Given the description of an element on the screen output the (x, y) to click on. 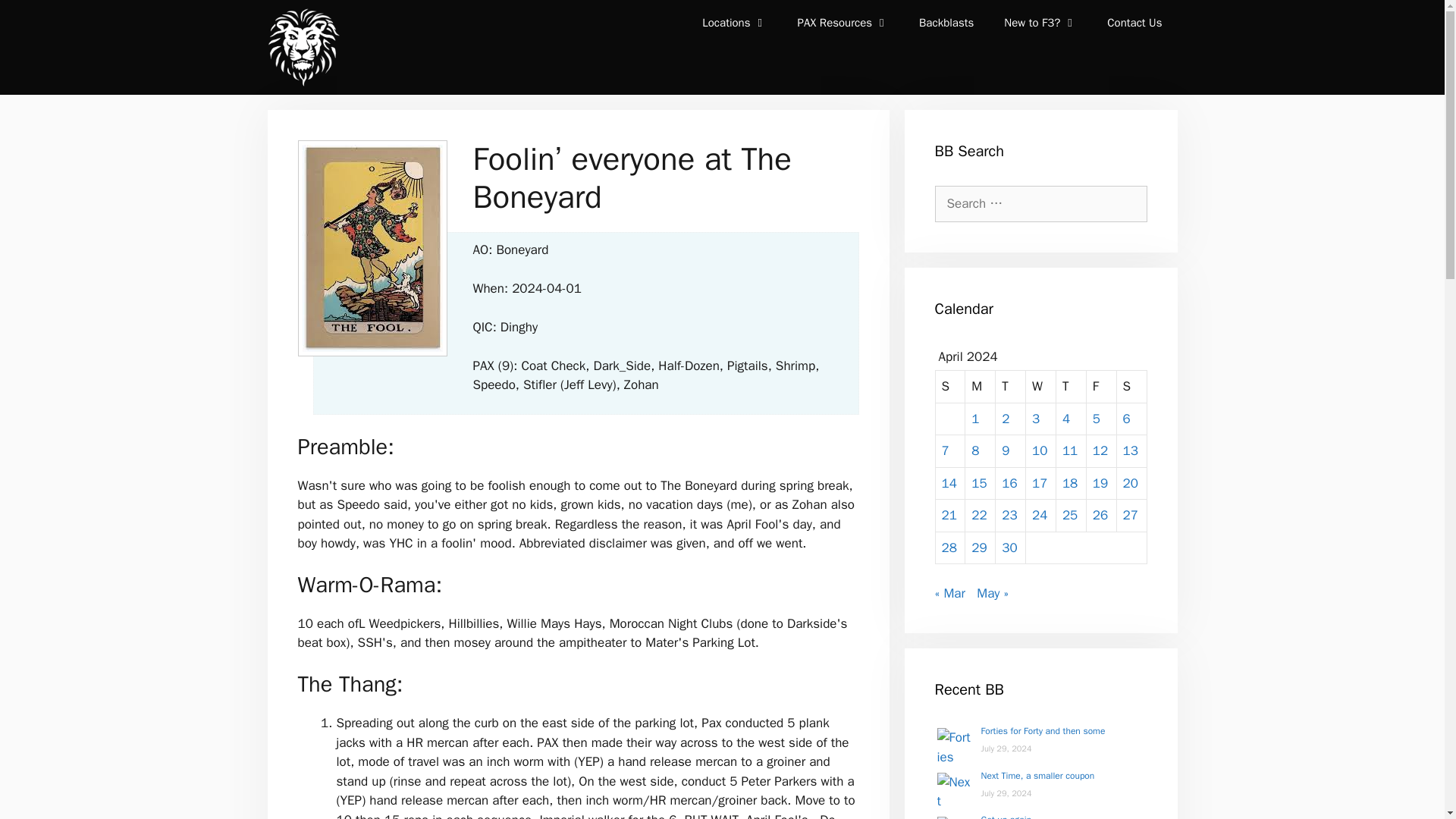
Saturday (1131, 387)
New to F3? (1040, 22)
Backblasts (946, 22)
Friday (1101, 387)
Wednesday (1041, 387)
Contact Us (1134, 22)
F3Alpha (302, 47)
PAX Resources (843, 22)
Monday (980, 387)
Locations (734, 22)
Sunday (951, 387)
Search for: (1040, 203)
Thursday (1071, 387)
11 (1069, 450)
Search (33, 15)
